Given the description of an element on the screen output the (x, y) to click on. 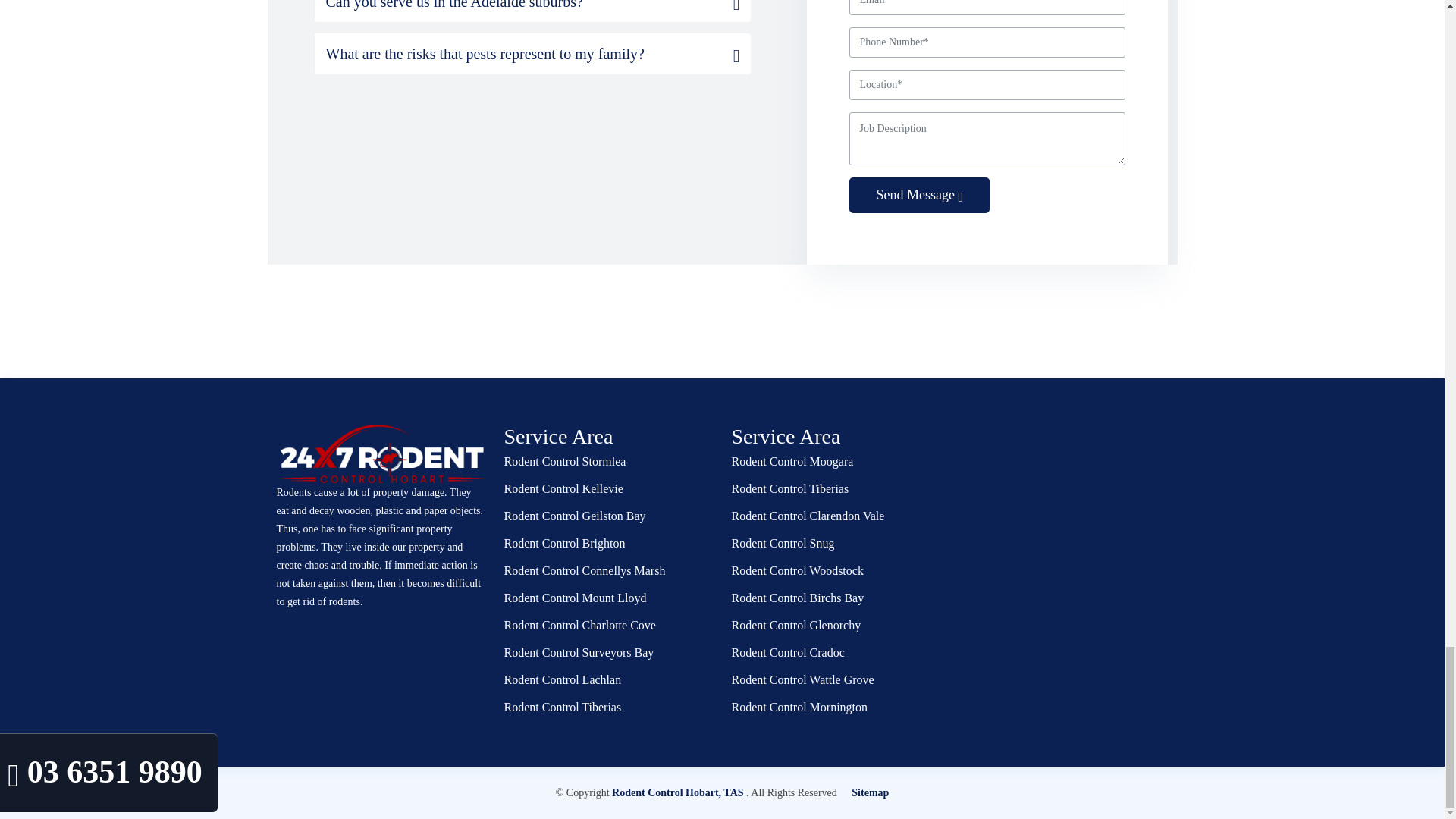
Sitemap (869, 792)
Rodent Control Glenorchy (795, 625)
Rodent Control Woodstock (796, 571)
Rodent Control Stormlea (564, 461)
Rodent Control Tiberias (562, 707)
Can you serve us in the Adelaide suburbs? (532, 5)
Rodent Control Cradoc (787, 653)
Rodent Control Snug (782, 543)
Send Message (919, 194)
What are the risks that pests represent to my family? (532, 54)
